Given the description of an element on the screen output the (x, y) to click on. 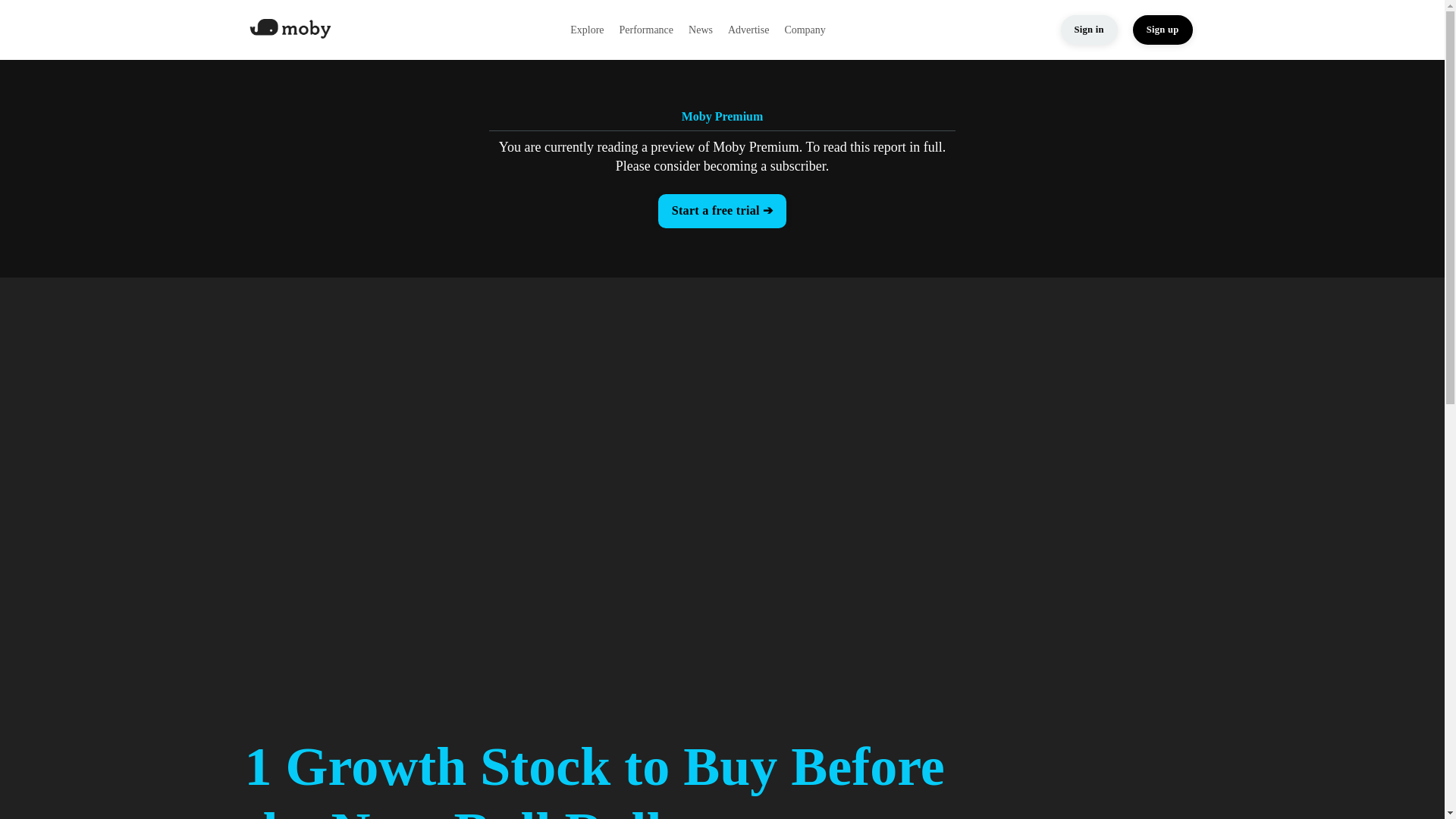
Sign in (1089, 30)
Explore (587, 29)
Company (804, 29)
Performance (647, 29)
Sign up (1162, 30)
News (700, 29)
Advertise (748, 29)
